Given the description of an element on the screen output the (x, y) to click on. 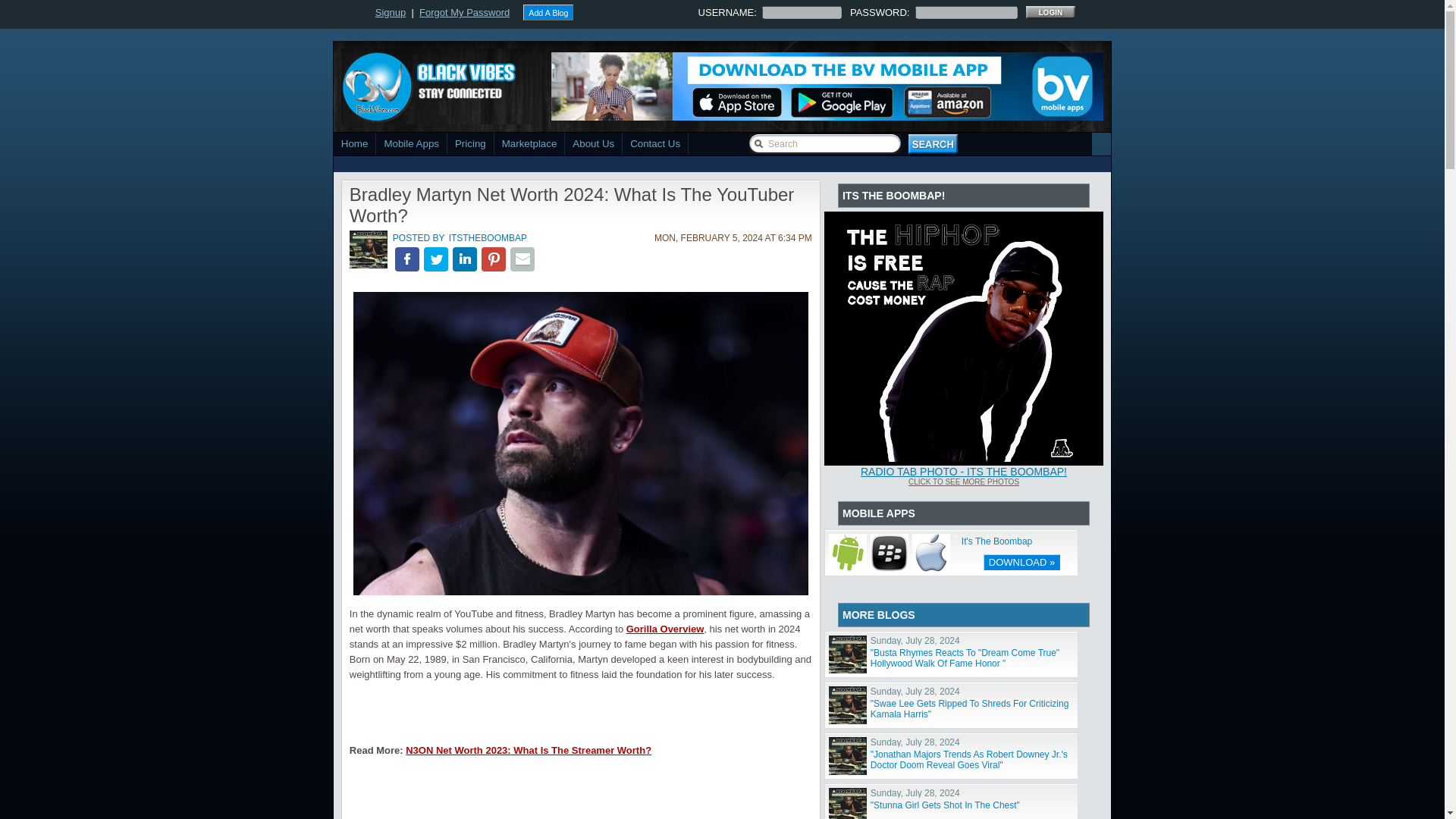
It's The Boombap (996, 541)
Add A Blog (547, 12)
About Us (593, 143)
Gorilla Overview (665, 628)
Signup (390, 12)
itstheboombap (368, 249)
N3ON Net Worth 2023: What Is The Streamer Worth? (528, 749)
itstheboombap (368, 265)
Pricing (470, 143)
View the Pricing Chart for BV Mobile Apps (470, 143)
ITSTHEBOOMBAP (488, 237)
Create your own mobile app with BV Mobile Apps (410, 143)
RADIO TAB PHOTO - ITS THE BOOMBAP! (963, 471)
Home (355, 143)
Contact Us (655, 143)
